Given the description of an element on the screen output the (x, y) to click on. 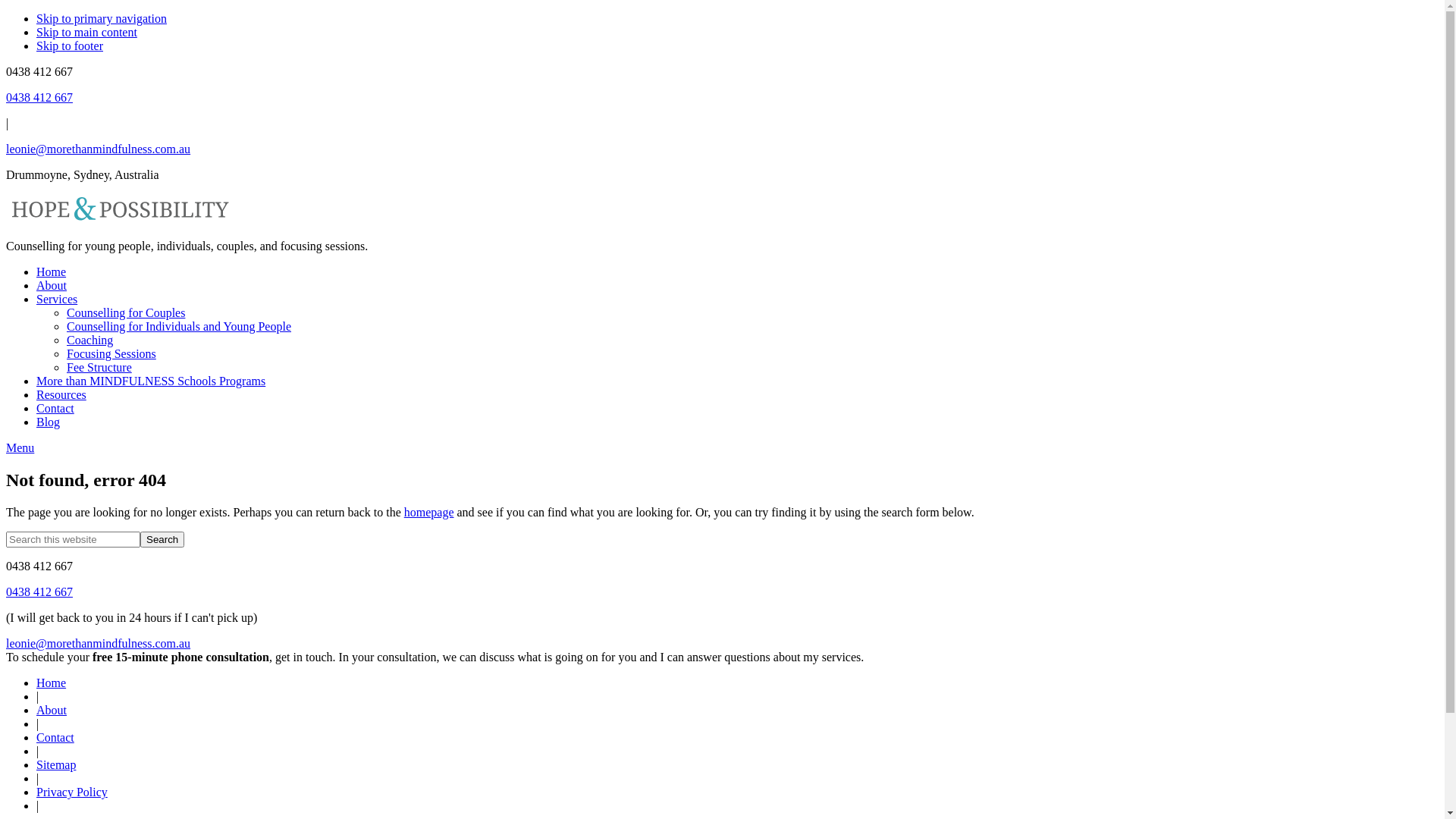
Hope and Possibility Element type: hover (119, 209)
Services Element type: text (56, 298)
Home Element type: text (50, 271)
Contact Element type: text (55, 407)
Counselling for Individuals and Young People Element type: text (178, 326)
Contact Element type: text (55, 737)
0438 412 667 Element type: text (39, 591)
Fee Structure Element type: text (98, 366)
Resources Element type: text (61, 394)
Skip to main content Element type: text (86, 31)
About Element type: text (51, 285)
Privacy Policy Element type: text (71, 791)
Home Element type: text (50, 682)
Hope and Possibility Element type: hover (119, 219)
Blog Element type: text (47, 421)
leonie@morethanmindfulness.com.au Element type: text (98, 643)
0438 412 667 Element type: text (39, 97)
Skip to footer Element type: text (69, 45)
About Element type: text (51, 709)
leonie@morethanmindfulness.com.au Element type: text (98, 148)
homepage Element type: text (429, 511)
More than MINDFULNESS Schools Programs Element type: text (150, 380)
Search Element type: text (162, 539)
Counselling for Couples Element type: text (125, 312)
Coaching Element type: text (89, 339)
Skip to primary navigation Element type: text (101, 18)
Focusing Sessions Element type: text (111, 353)
Sitemap Element type: text (55, 764)
Menu Element type: text (20, 447)
